Given the description of an element on the screen output the (x, y) to click on. 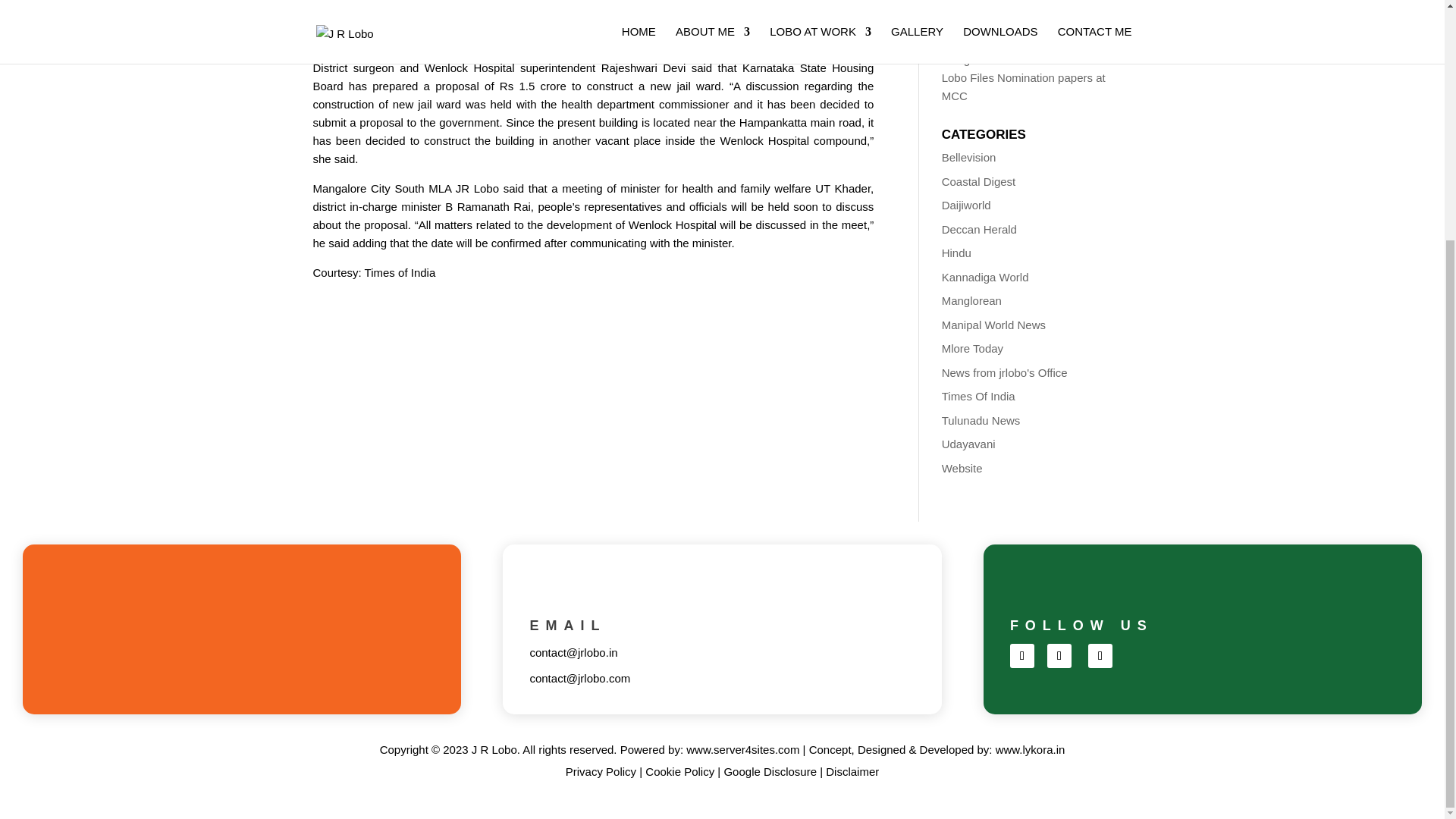
Follow on Instagram (1058, 654)
Bellevision (968, 156)
Times Of India (978, 395)
Coastal Digest (979, 180)
Tulunadu News (981, 420)
Deccan Herald (979, 228)
Hindu (956, 252)
Times of India (400, 272)
Manglorean (971, 300)
Daijiworld (966, 205)
Follow on Facebook (1021, 654)
Follow on Youtube (1099, 654)
Kannadiga World (985, 276)
